Given the description of an element on the screen output the (x, y) to click on. 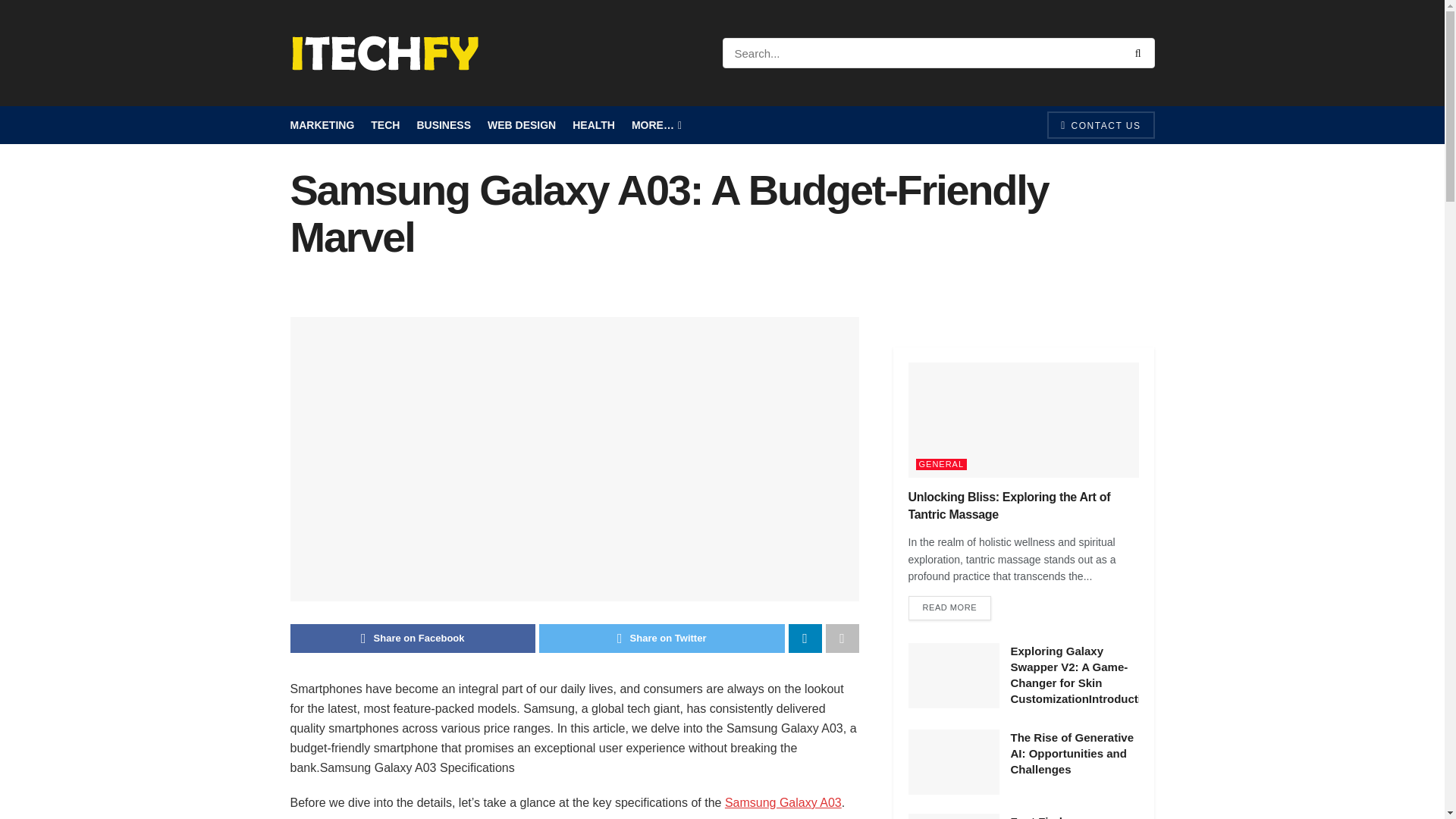
BUSINESS (443, 125)
HEALTH (593, 125)
WEB DESIGN (521, 125)
MARKETING (321, 125)
CONTACT US (1100, 124)
